Given the description of an element on the screen output the (x, y) to click on. 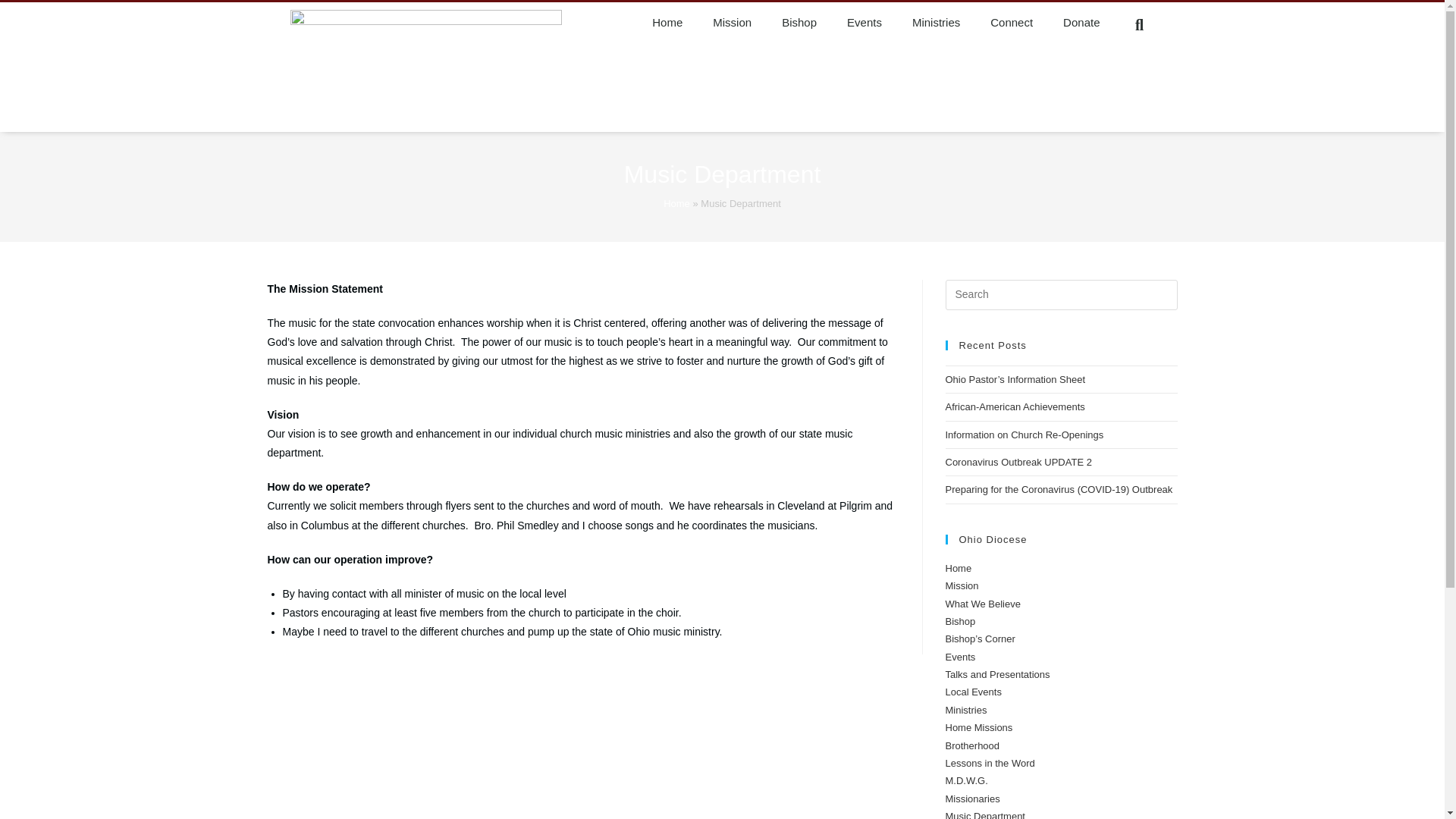
Connect (1011, 22)
Bishop (799, 22)
Events (863, 22)
Home (667, 22)
Ministries (935, 22)
Donate (1081, 22)
Mission (732, 22)
